Given the description of an element on the screen output the (x, y) to click on. 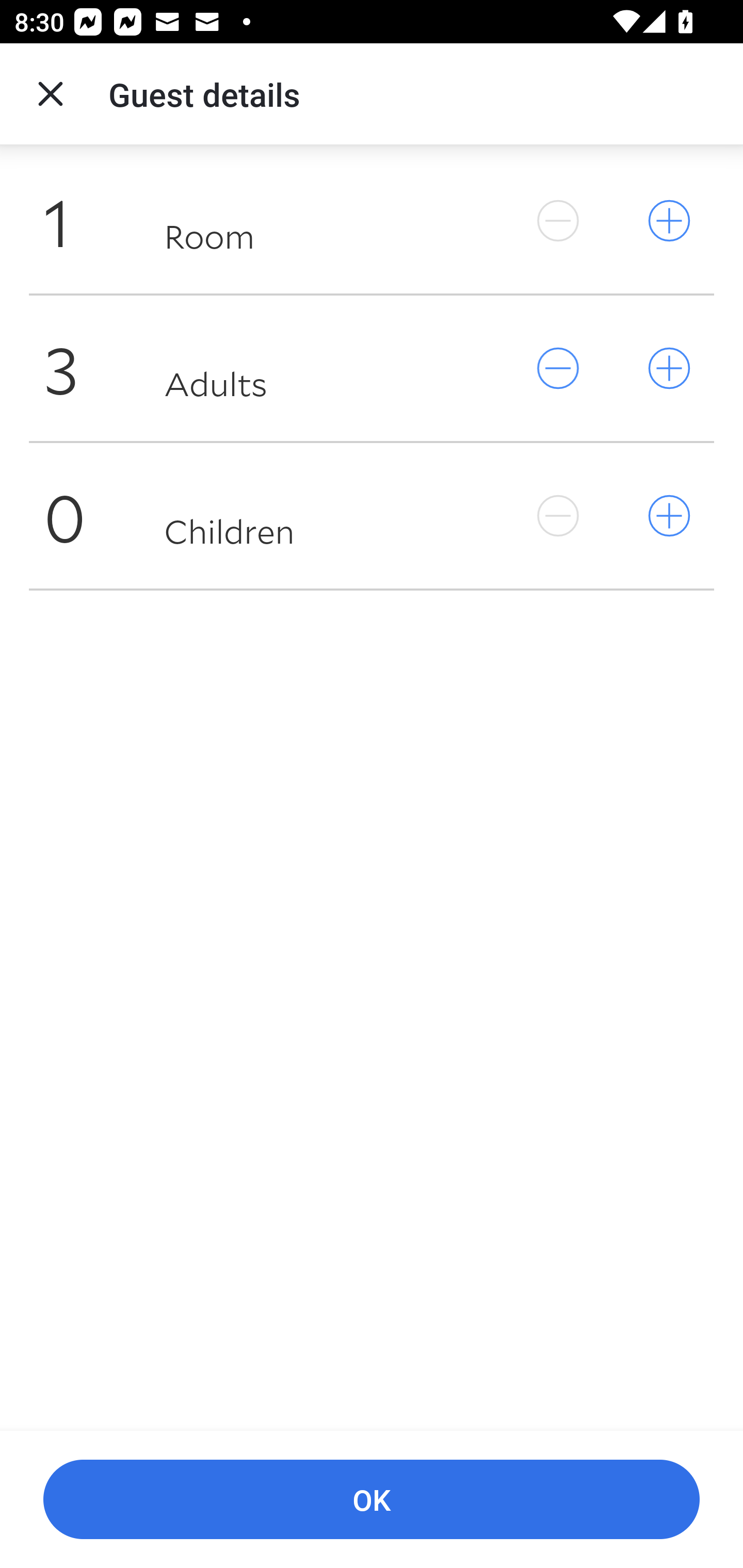
OK (371, 1499)
